Given the description of an element on the screen output the (x, y) to click on. 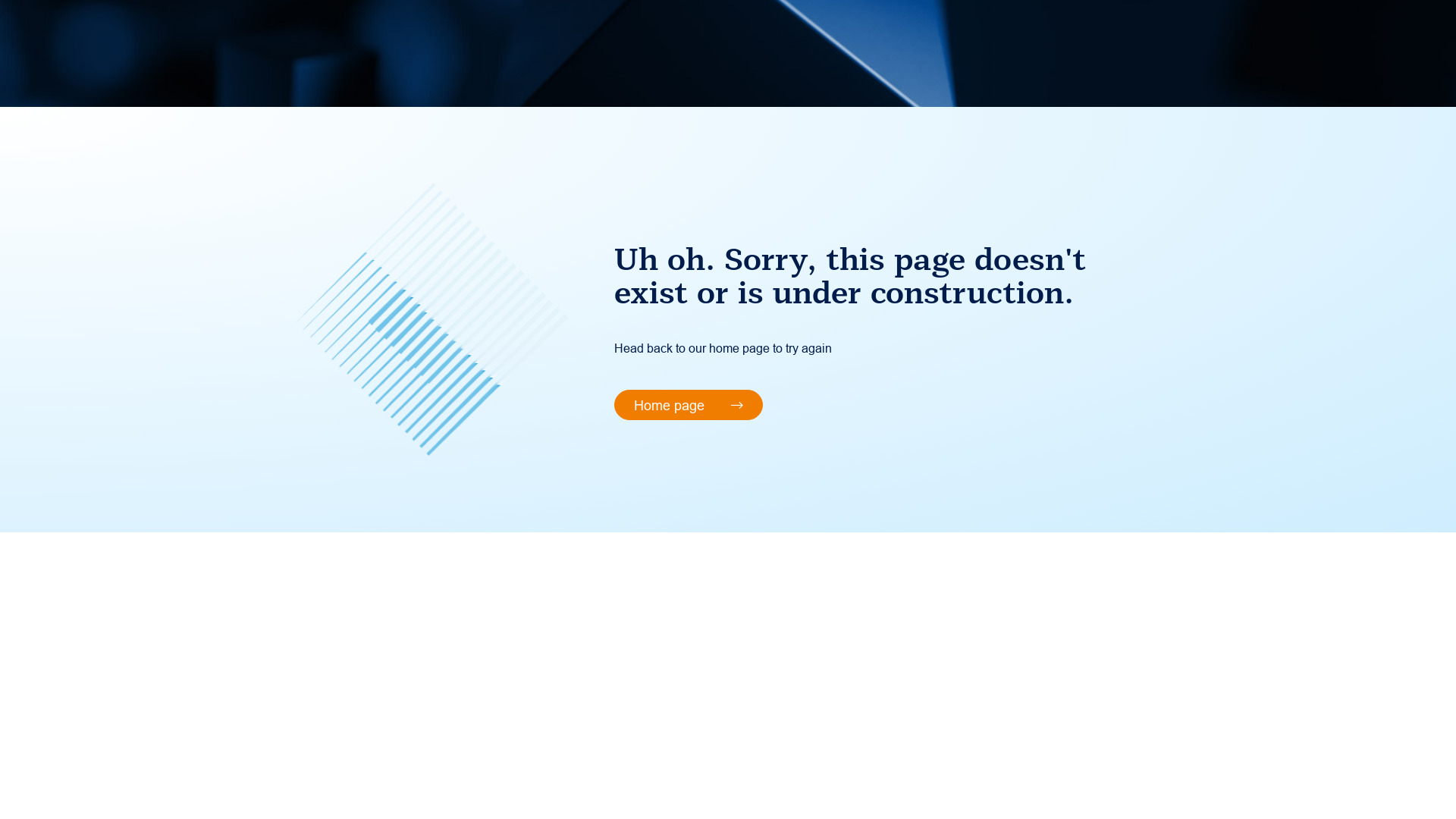
Home page  Element type: text (688, 404)
